Given the description of an element on the screen output the (x, y) to click on. 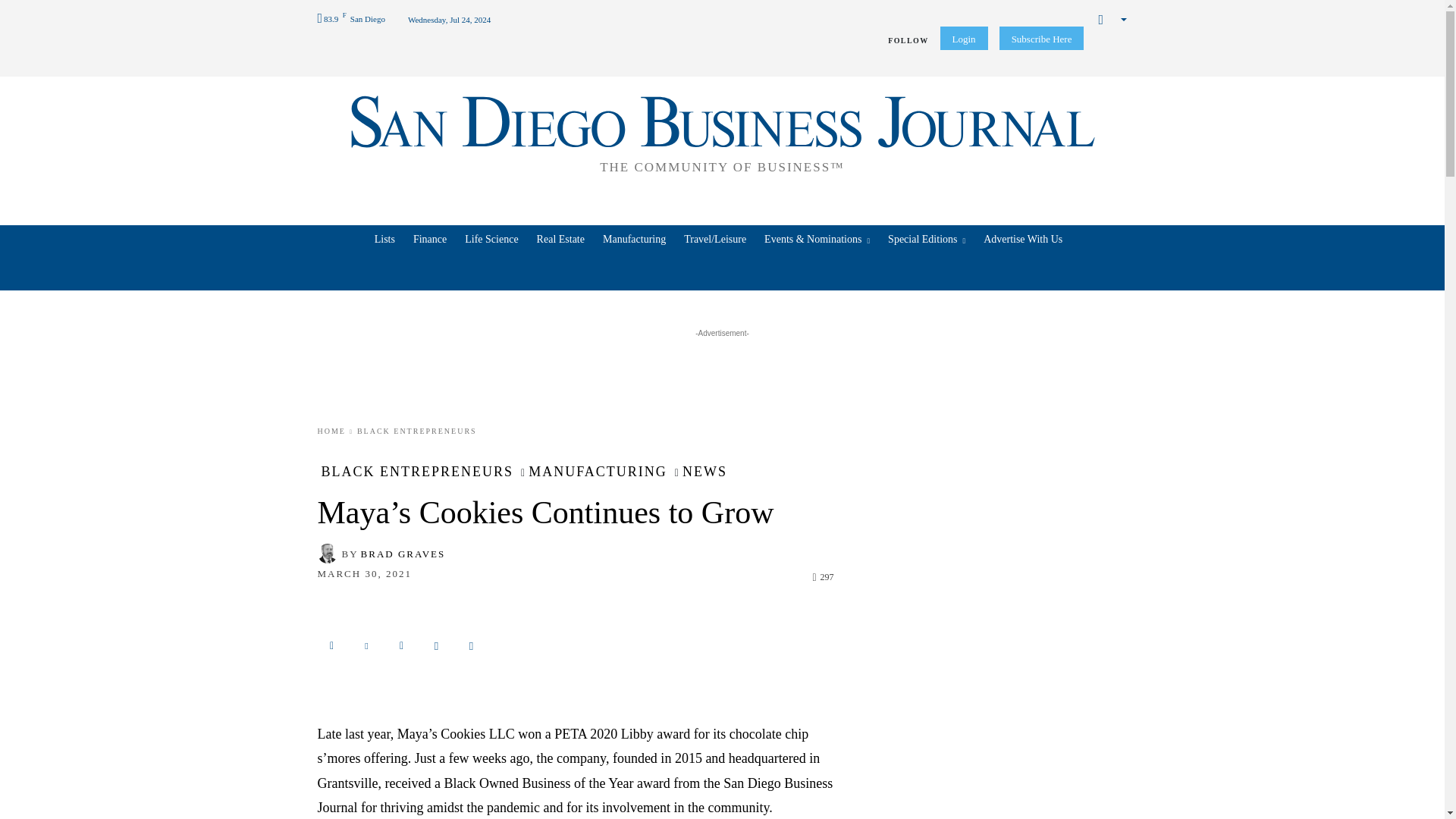
3rd party ad content (722, 375)
San Diego Business Journal Logo (721, 132)
